Given the description of an element on the screen output the (x, y) to click on. 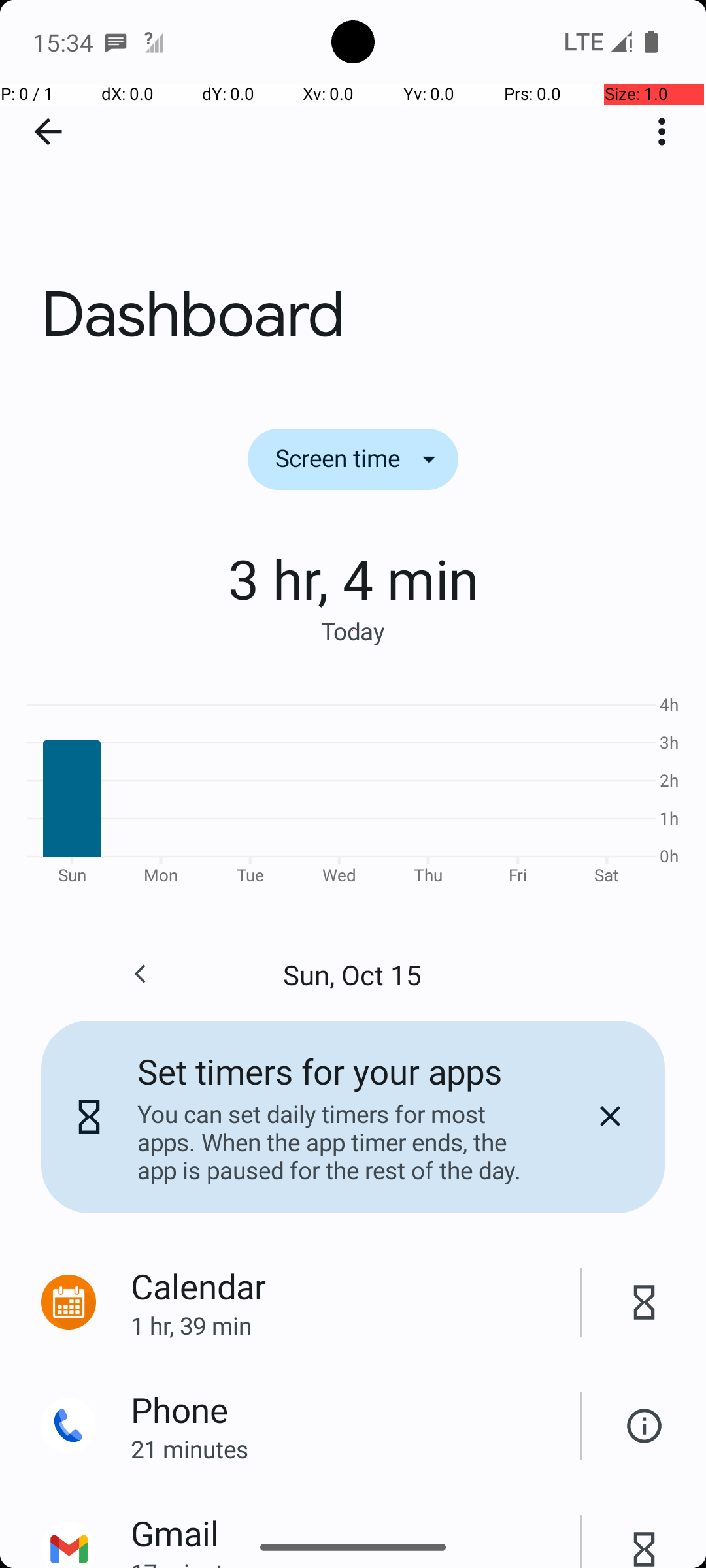
Dashboard Element type: android.widget.FrameLayout (353, 195)
3 hr, 4 min Element type: android.widget.TextView (353, 577)
Go to the previous day Element type: android.widget.Button (139, 973)
Set timers for your apps Element type: android.widget.TextView (319, 1070)
You can set daily timers for most apps. When the app timer ends, the app is paused for the rest of the day. Element type: android.widget.TextView (339, 1141)
Dismiss card Element type: android.widget.Button (609, 1116)
1 hr, 39 min Element type: android.widget.TextView (355, 1325)
No timer set for Calendar Element type: android.widget.FrameLayout (644, 1302)
21 minutes Element type: android.widget.TextView (355, 1448)
Can't set timer Element type: android.widget.FrameLayout (644, 1425)
17 minutes Element type: android.widget.TextView (355, 1562)
No timer set for Gmail Element type: android.widget.FrameLayout (644, 1534)
Bar Chart. Showing Phone usage data with 7 data points. Element type: android.view.ViewGroup (353, 787)
